Given the description of an element on the screen output the (x, y) to click on. 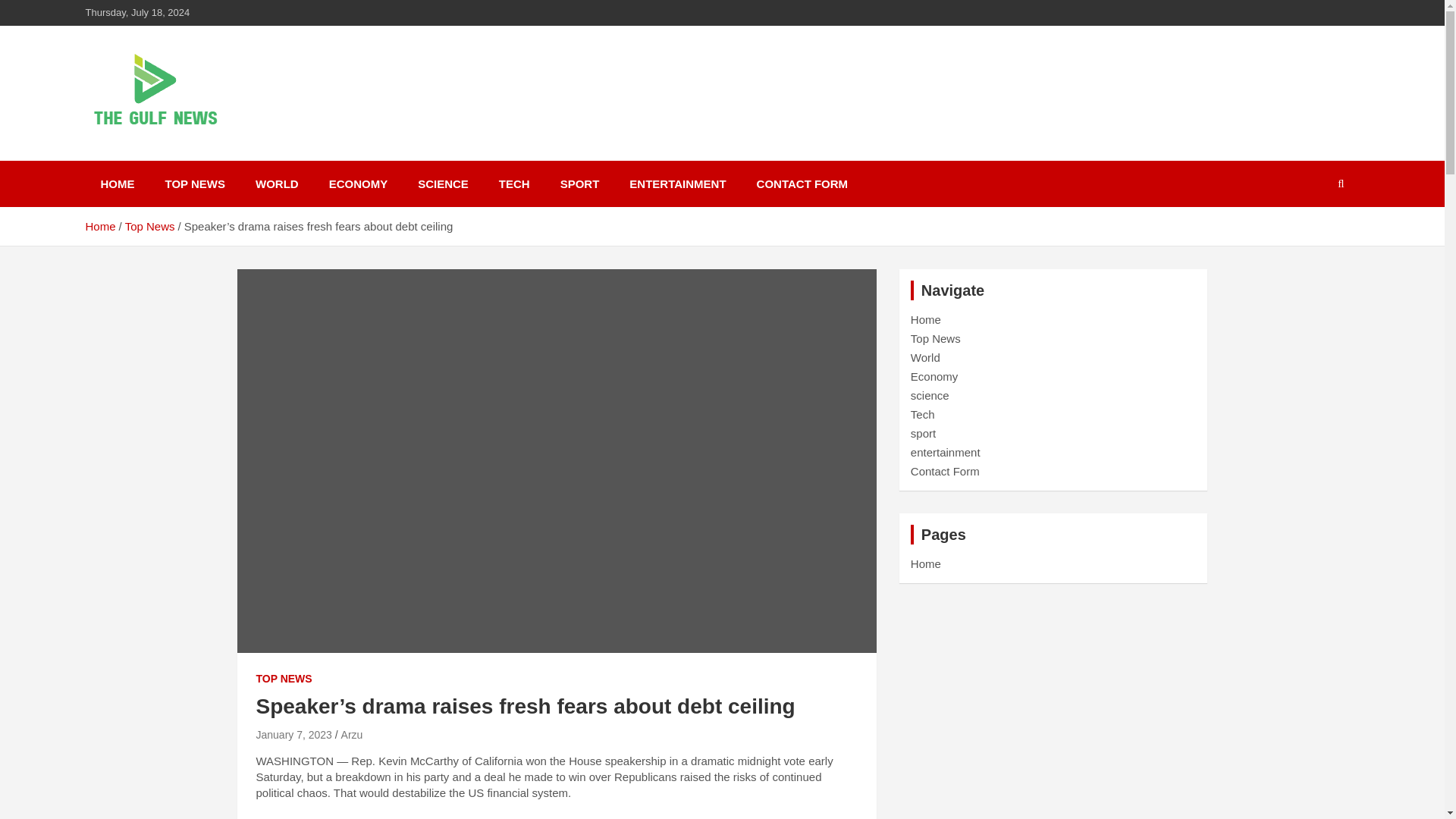
The Gulf News (189, 157)
Home (99, 226)
CONTACT FORM (802, 183)
Top News (935, 338)
TOP NEWS (284, 679)
WORLD (277, 183)
ECONOMY (358, 183)
Arzu (351, 734)
SPORT (579, 183)
ENTERTAINMENT (677, 183)
Home (925, 318)
Top News (149, 226)
January 7, 2023 (293, 734)
World (925, 357)
TOP NEWS (194, 183)
